Given the description of an element on the screen output the (x, y) to click on. 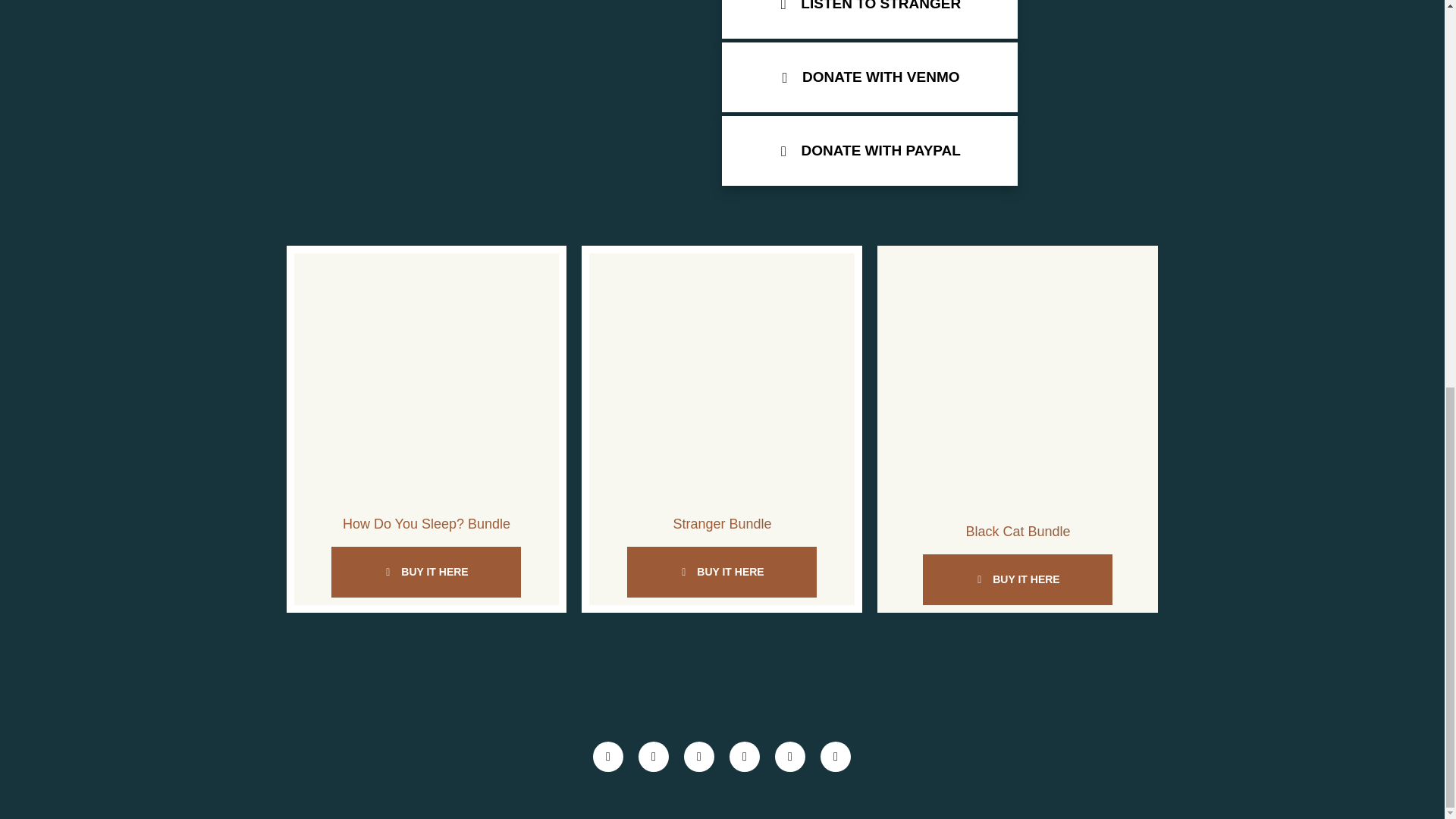
BUY IT HERE (721, 572)
BUY IT HERE (1017, 579)
LISTEN TO STRANGER (869, 19)
DONATE WITH VENMO (869, 77)
BUY IT HERE (426, 572)
DONATE WITH PAYPAL (869, 150)
